Given the description of an element on the screen output the (x, y) to click on. 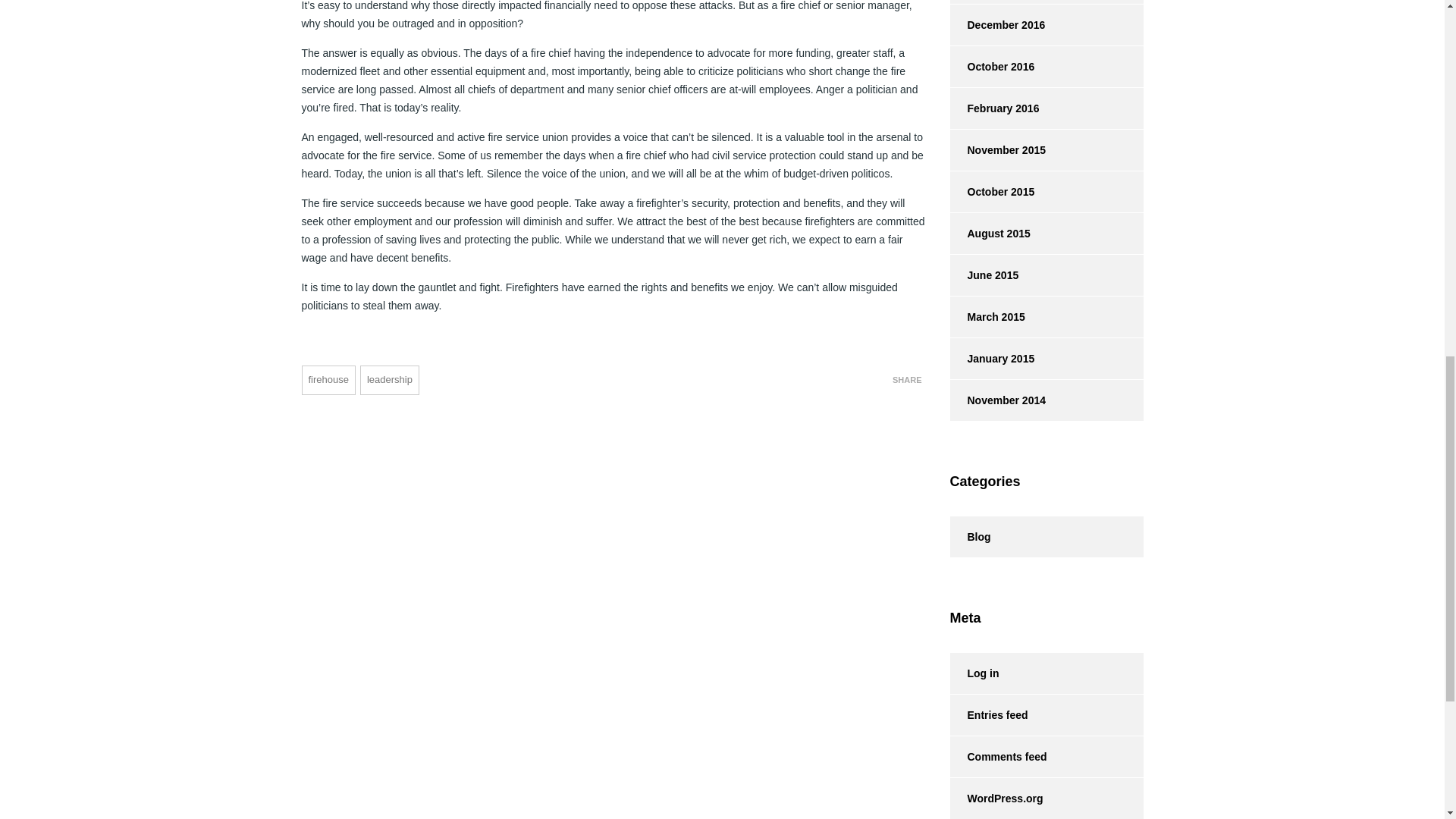
February 2017 (994, 2)
firehouse (328, 379)
December 2016 (997, 24)
October 2015 (991, 191)
August 2015 (989, 232)
October 2016 (991, 65)
November 2015 (997, 149)
June 2015 (983, 274)
leadership (389, 379)
February 2016 (994, 107)
